Given the description of an element on the screen output the (x, y) to click on. 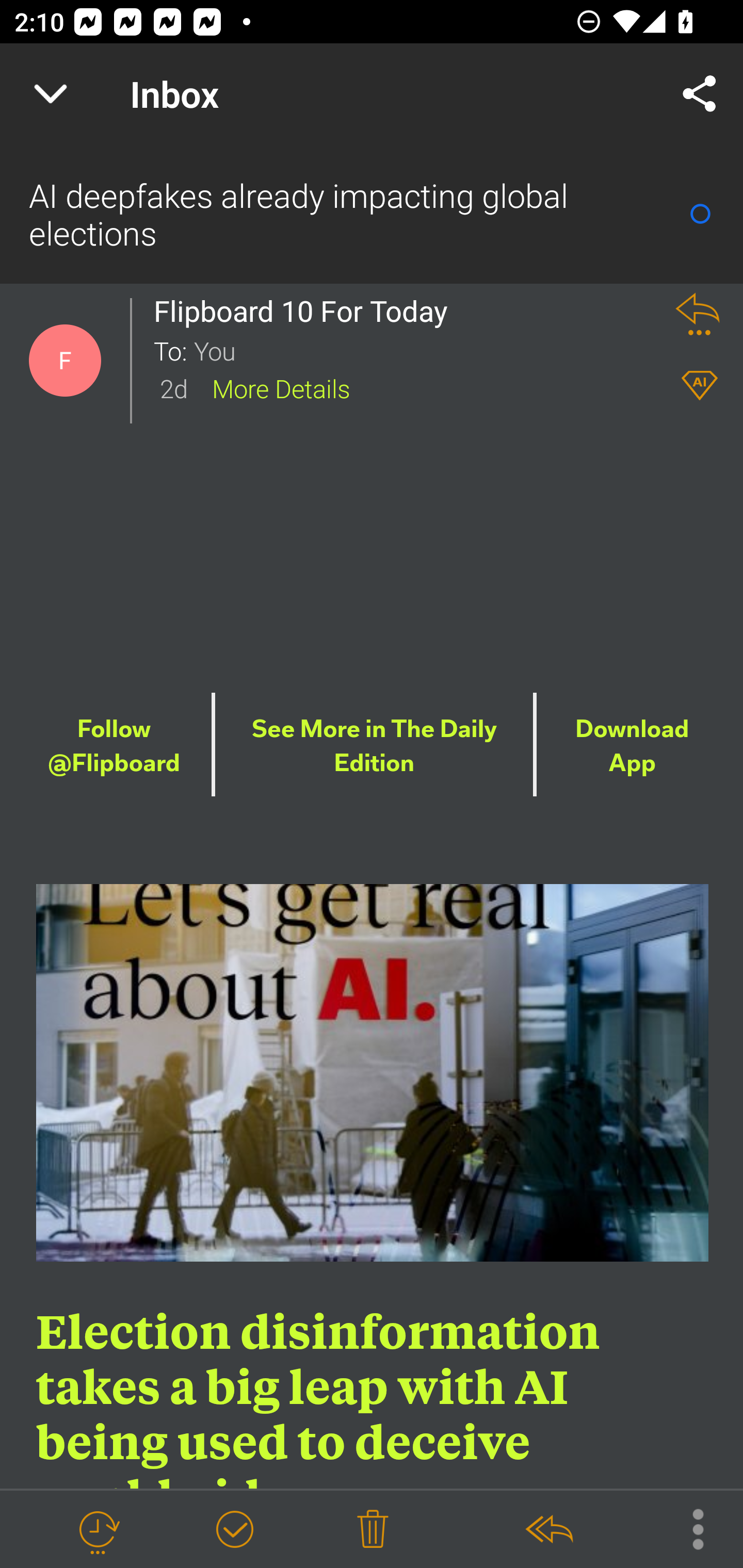
Navigate up (50, 93)
Share (699, 93)
Mark as Read (699, 213)
Flipboard 10 For Today (305, 310)
Contact Details (64, 360)
You (422, 349)
More Details (280, 387)
Follow @Flipboard Follow  @Flipboard (114, 746)
See More in The Daily Edition (374, 746)
Download App (631, 746)
More Options (687, 1528)
Snooze (97, 1529)
Mark as Done (234, 1529)
Delete (372, 1529)
Reply All (548, 1529)
